Given the description of an element on the screen output the (x, y) to click on. 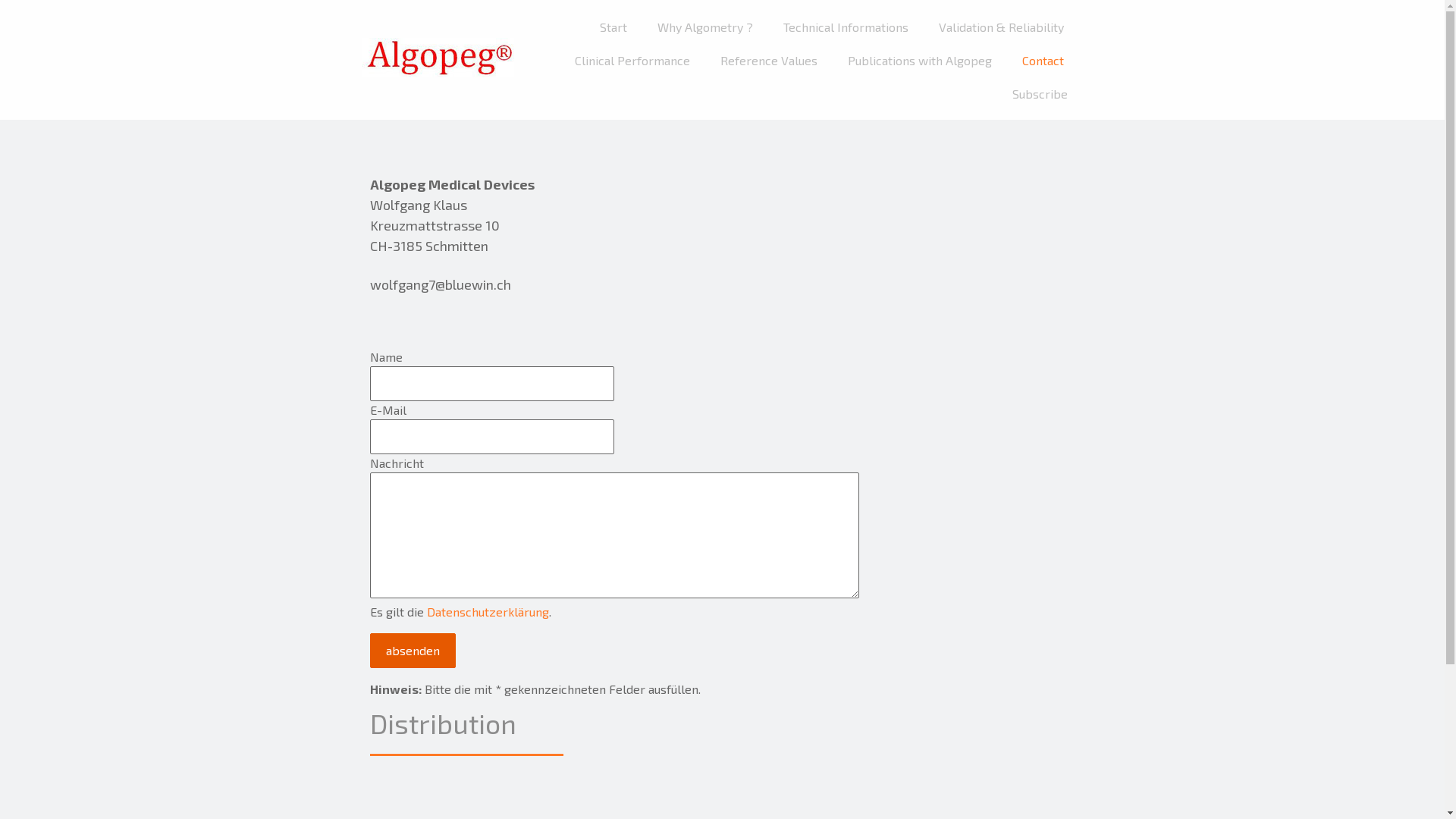
Validation & Reliability Element type: text (1000, 27)
Start Element type: text (613, 27)
absenden Element type: text (412, 650)
Contact Element type: text (1042, 60)
Why Algometry ? Element type: text (705, 27)
Publications with Algopeg Element type: text (918, 60)
Clinical Performance Element type: text (631, 60)
Subscribe Element type: text (1040, 93)
Reference Values Element type: text (768, 60)
Technical Informations Element type: text (845, 27)
